Given the description of an element on the screen output the (x, y) to click on. 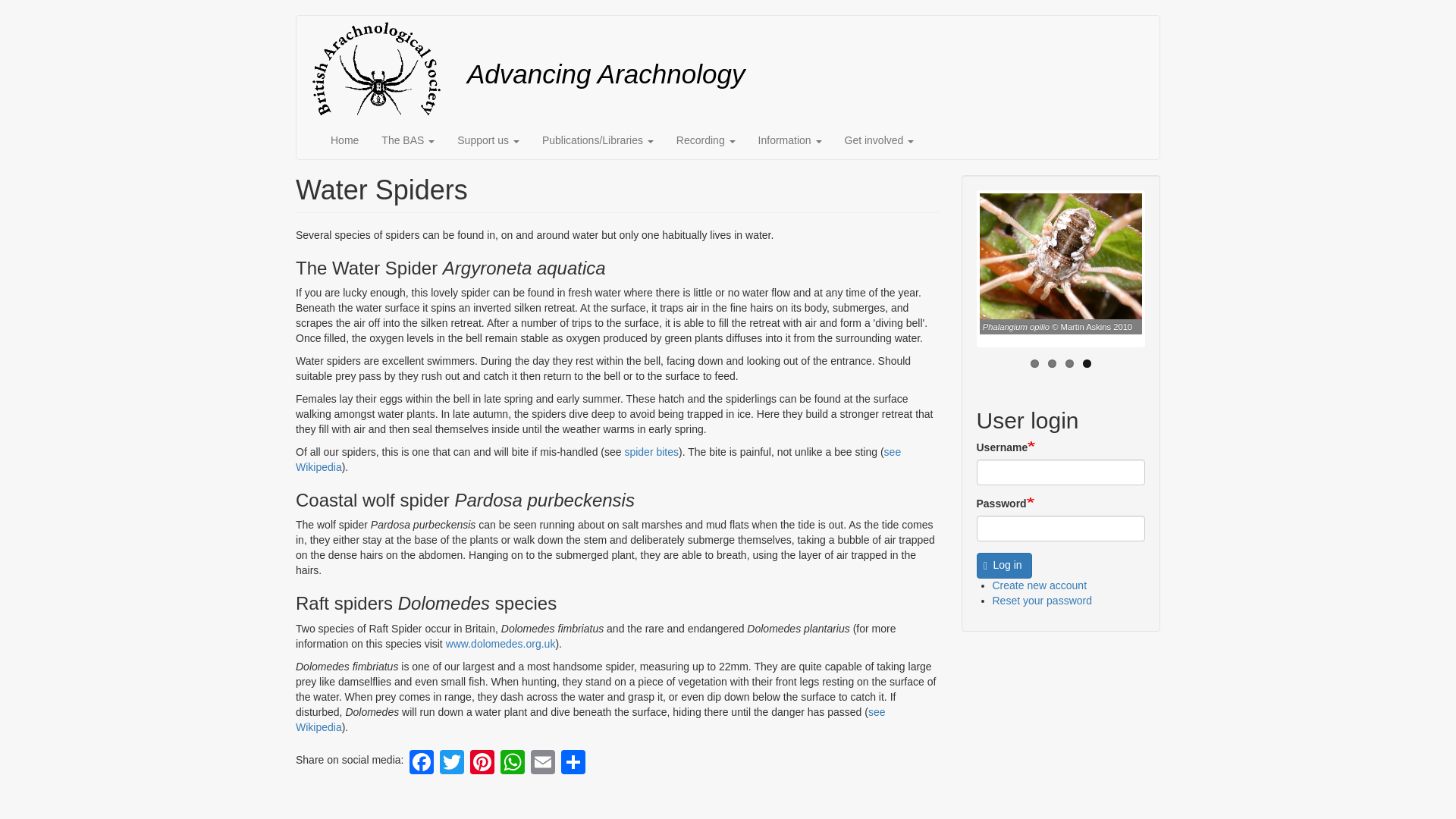
Home (381, 68)
Recording (705, 139)
Supporting the British Arachnological Society (488, 139)
Home (343, 139)
Information about the British Arachnological Society (407, 139)
Publications and library information (598, 139)
Information (789, 139)
Support us (488, 139)
The BAS (407, 139)
